Given the description of an element on the screen output the (x, y) to click on. 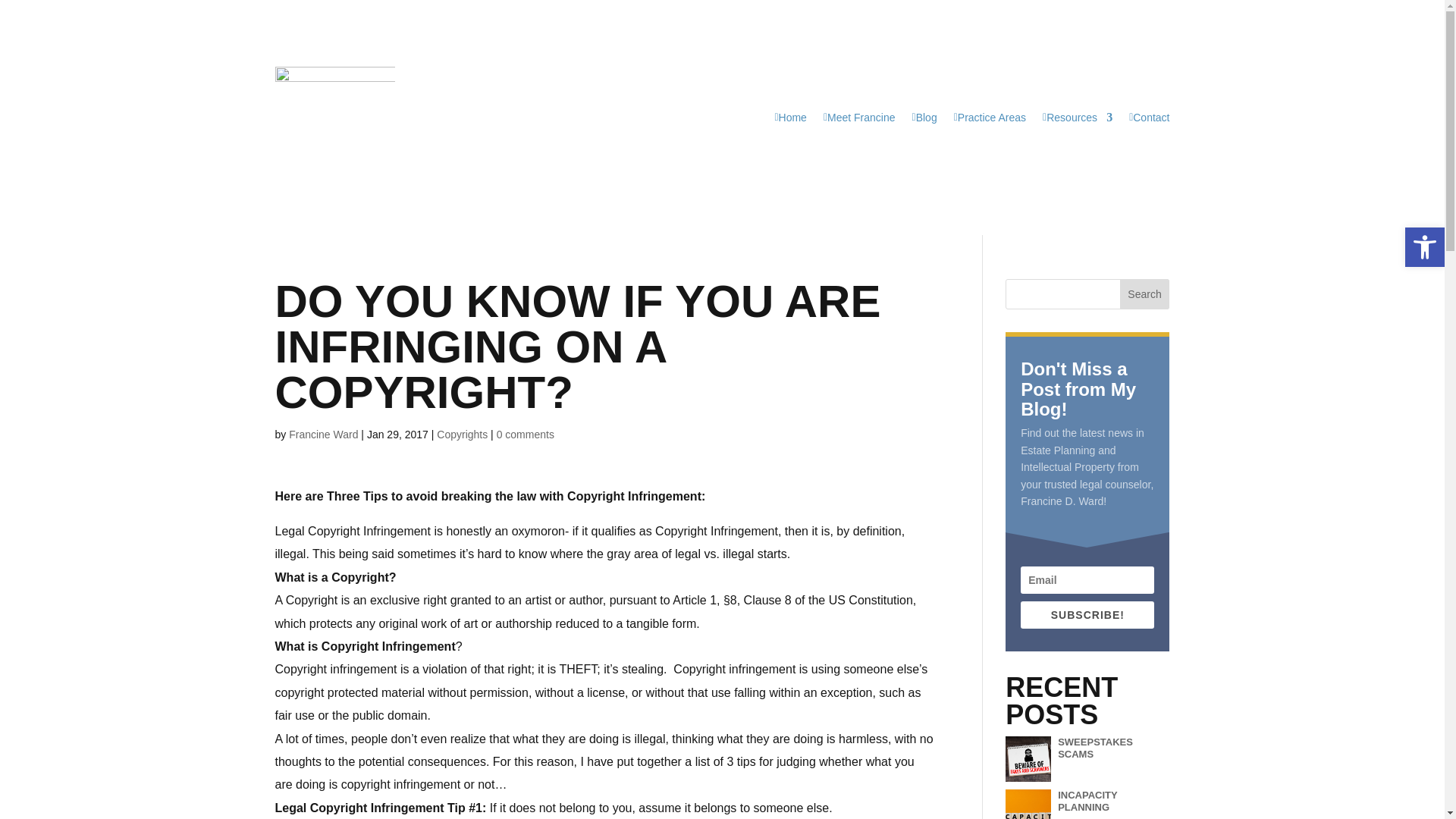
Copyrights (461, 434)
Search (1144, 294)
Meet Francine (859, 117)
SWEEPSTAKES SCAMS (1095, 748)
Home (790, 117)
INCAPACITY PLANNING (1087, 801)
Resources (1077, 117)
Practice Areas (989, 117)
Accessibility Tools (1424, 247)
Search (1144, 294)
Blog (924, 117)
SUBSCRIBE! (1087, 614)
Contact (1149, 117)
Francine Ward (323, 434)
Posts by Francine Ward (323, 434)
